Given the description of an element on the screen output the (x, y) to click on. 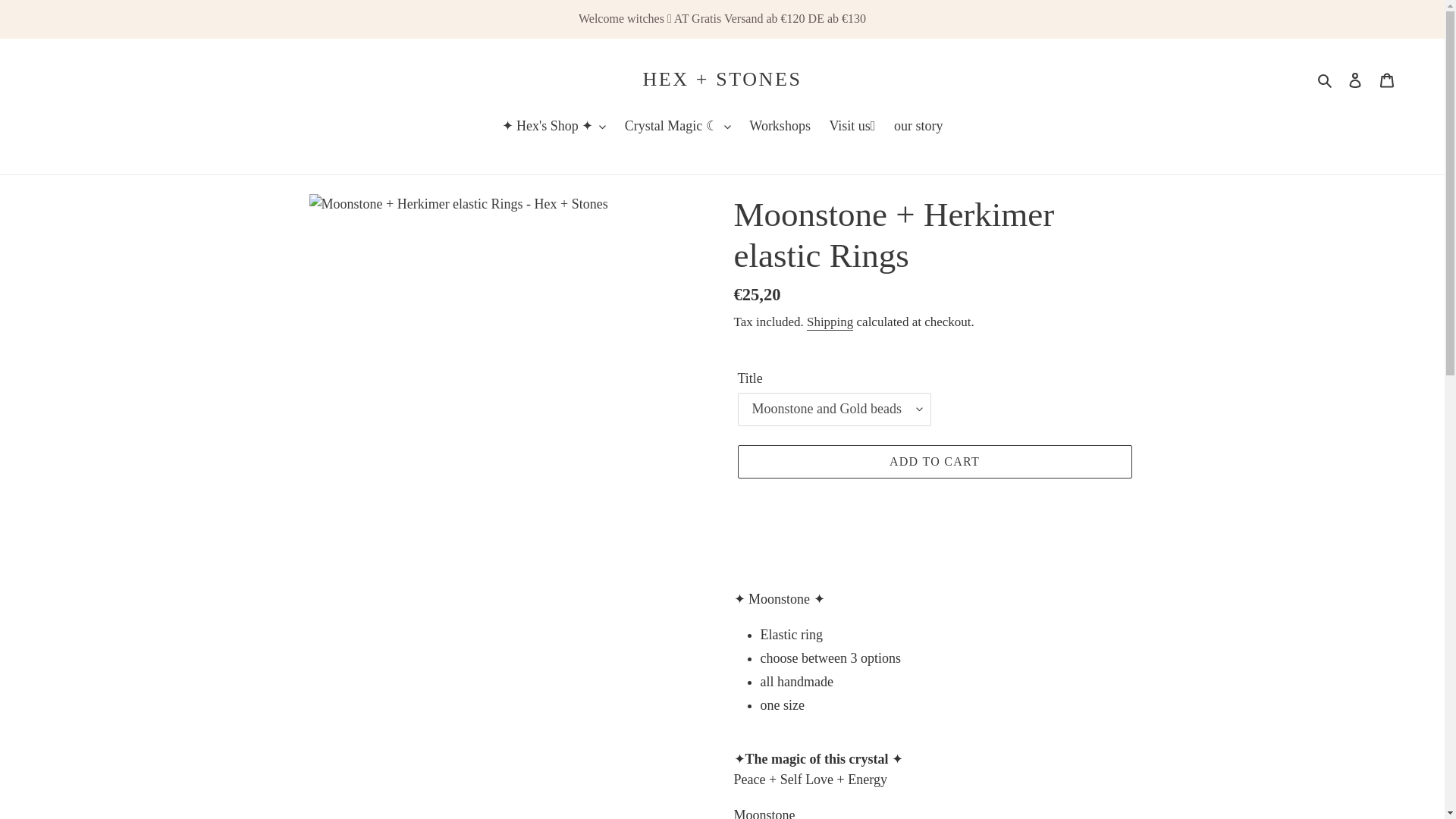
Search (1326, 78)
Log in (1355, 79)
Cart (1387, 79)
